Given the description of an element on the screen output the (x, y) to click on. 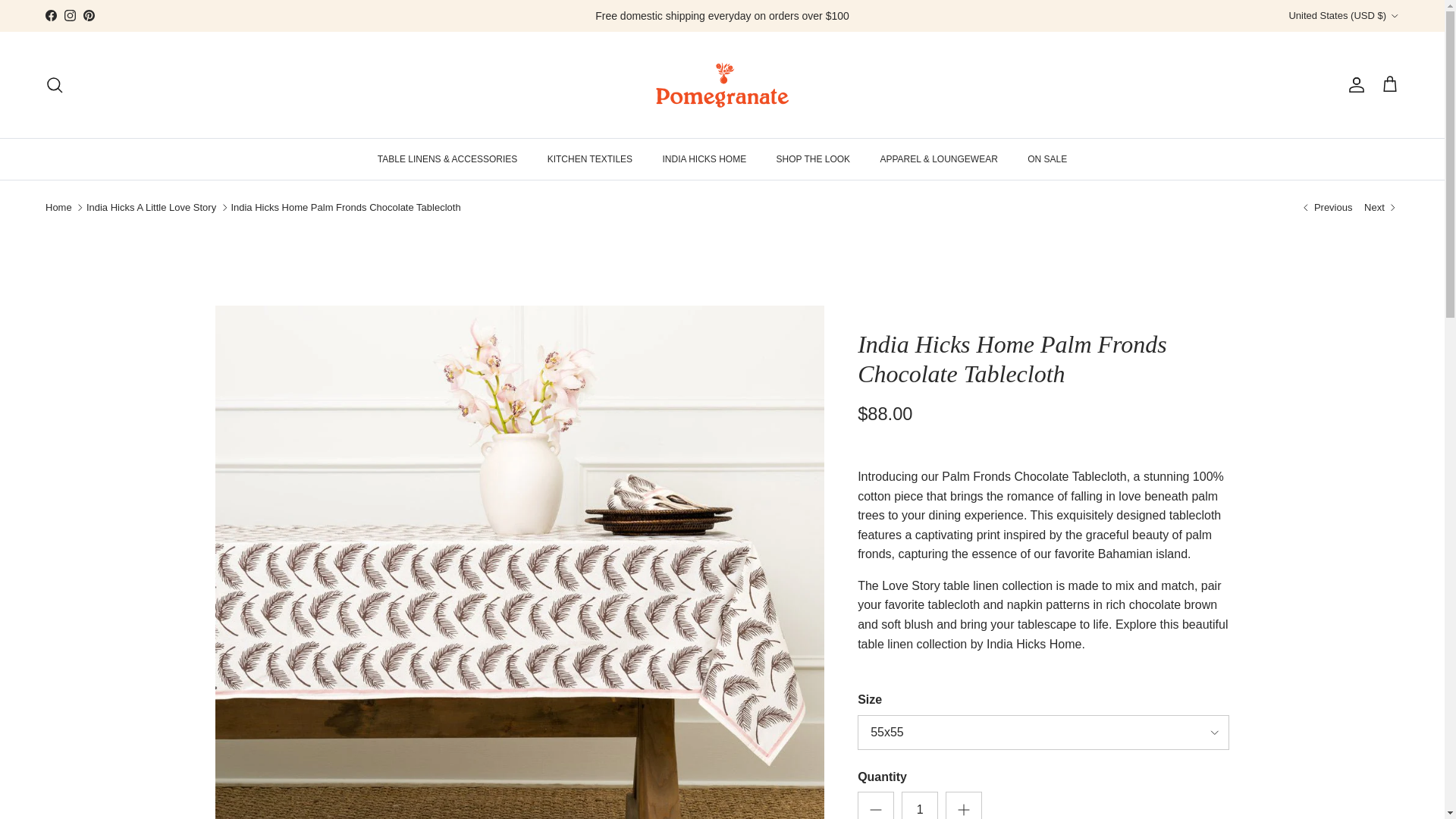
Cart (1389, 85)
Pomegranate Inc. (721, 84)
Pinterest (88, 15)
Pomegranate Inc. on Facebook (50, 15)
Pomegranate Inc. on Instagram (69, 15)
Facebook (50, 15)
Instagram (69, 15)
Pomegranate Inc. on Pinterest (88, 15)
Search (54, 85)
Account (1352, 85)
1 (919, 805)
